Given the description of an element on the screen output the (x, y) to click on. 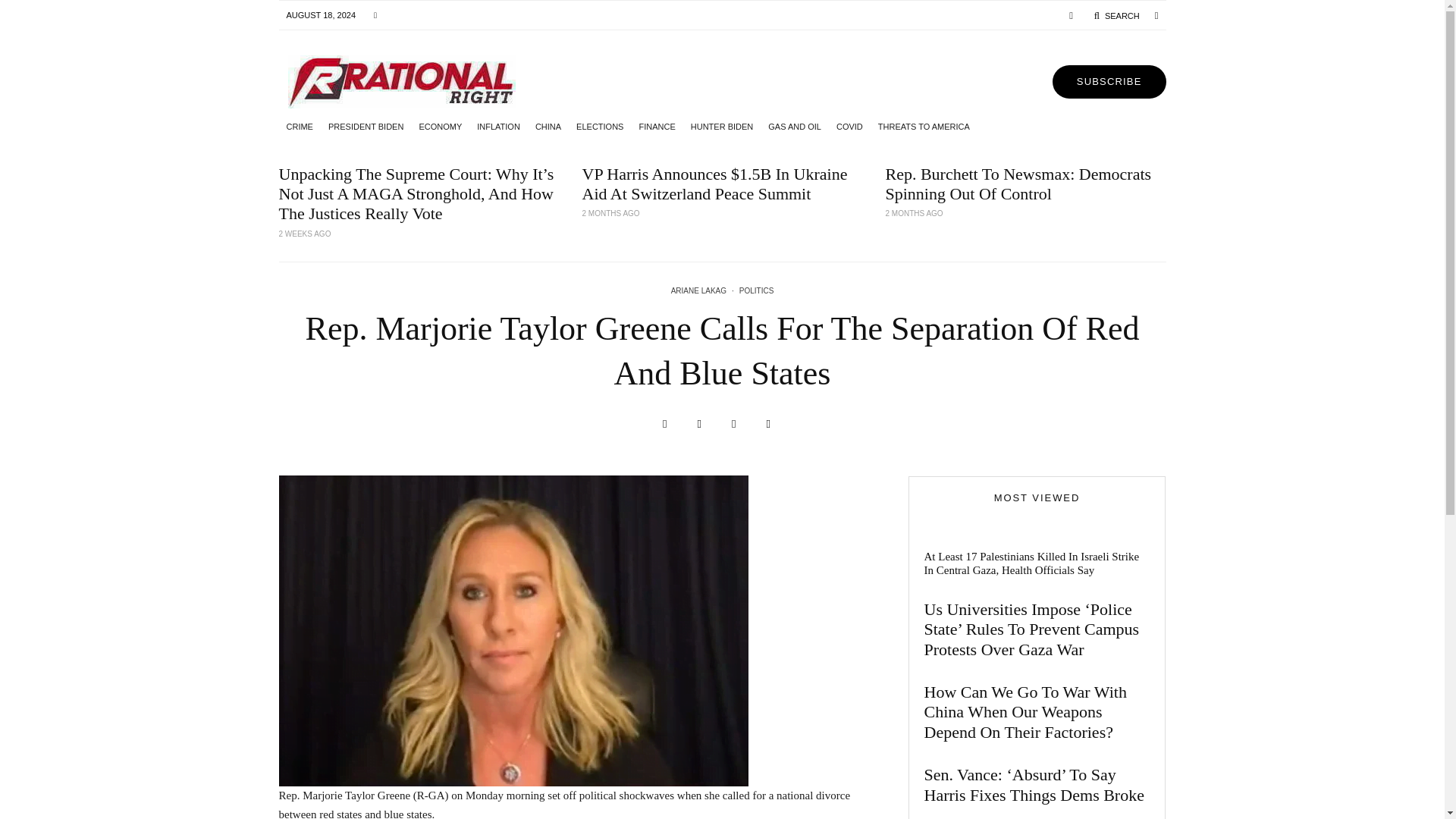
SUBSCRIBE (1109, 81)
PRESIDENT BIDEN (365, 126)
CHINA (548, 126)
ECONOMY (439, 126)
CRIME (299, 126)
SEARCH (1116, 15)
INFLATION (497, 126)
